Given the description of an element on the screen output the (x, y) to click on. 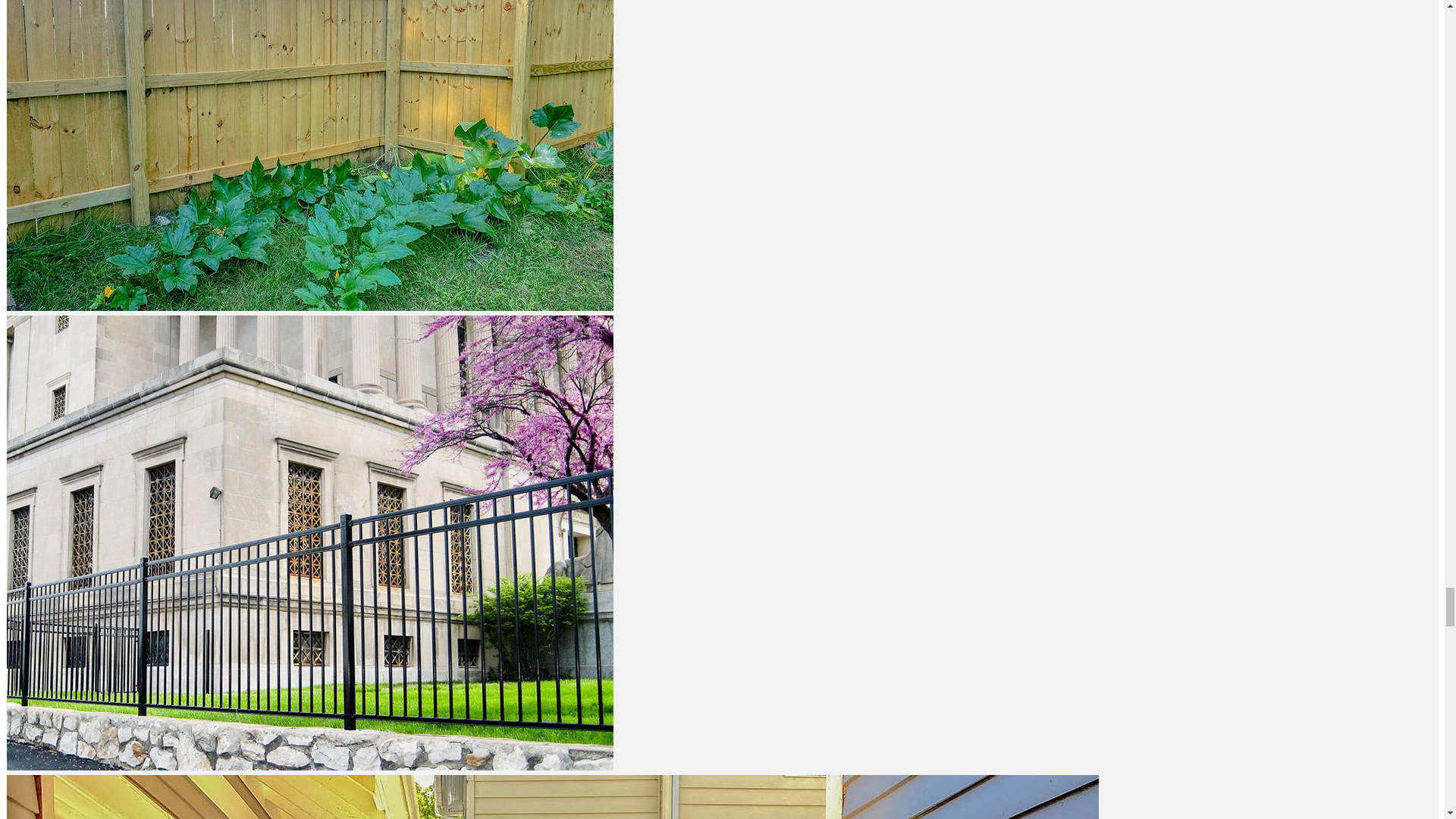
Custom Fence Gate Company in Cedar Falls, Iowa (722, 796)
